Given the description of an element on the screen output the (x, y) to click on. 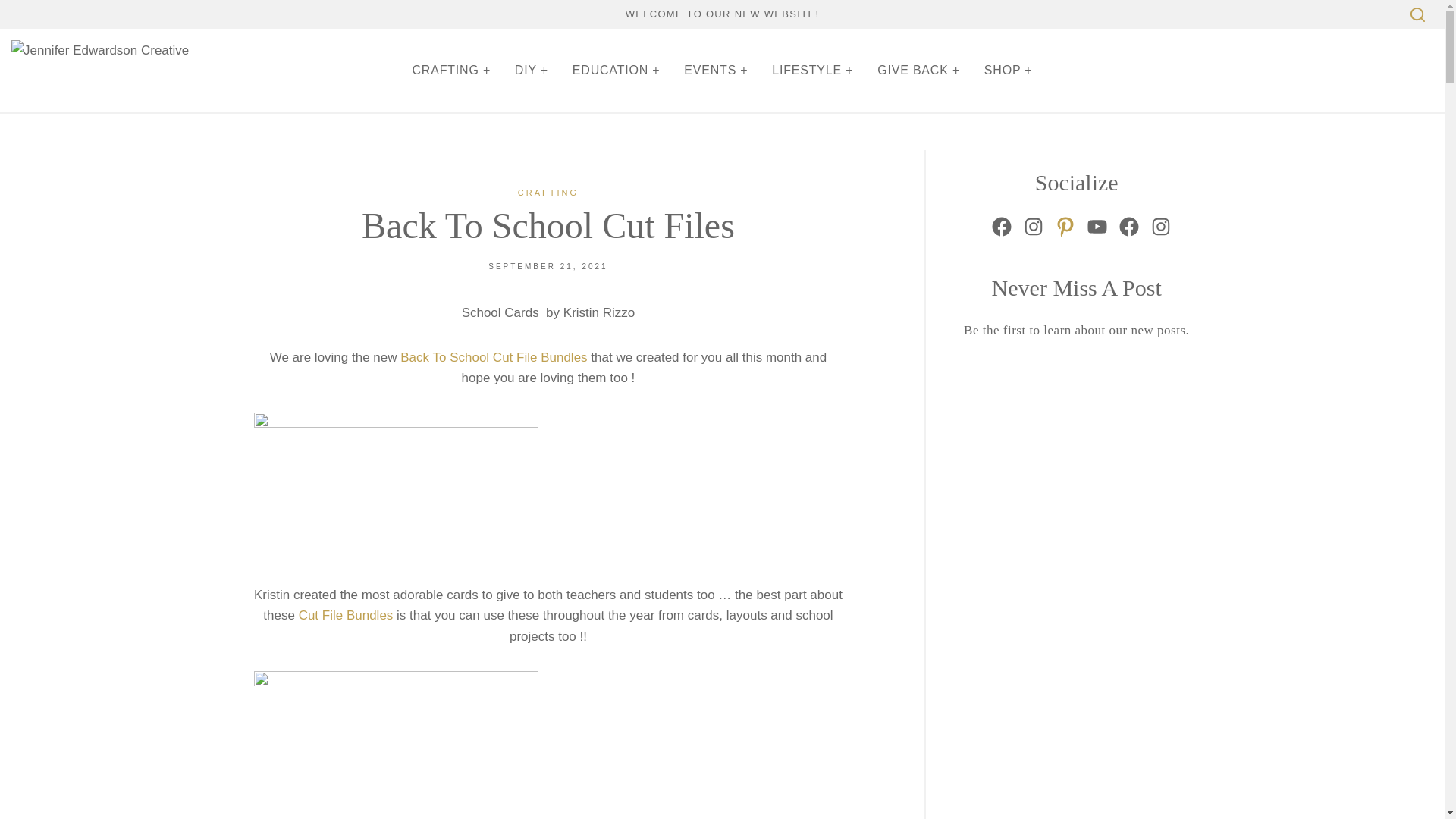
Back To School Cut File Bundles (493, 357)
CRAFTING (548, 192)
Cut File Bundles (345, 615)
